Given the description of an element on the screen output the (x, y) to click on. 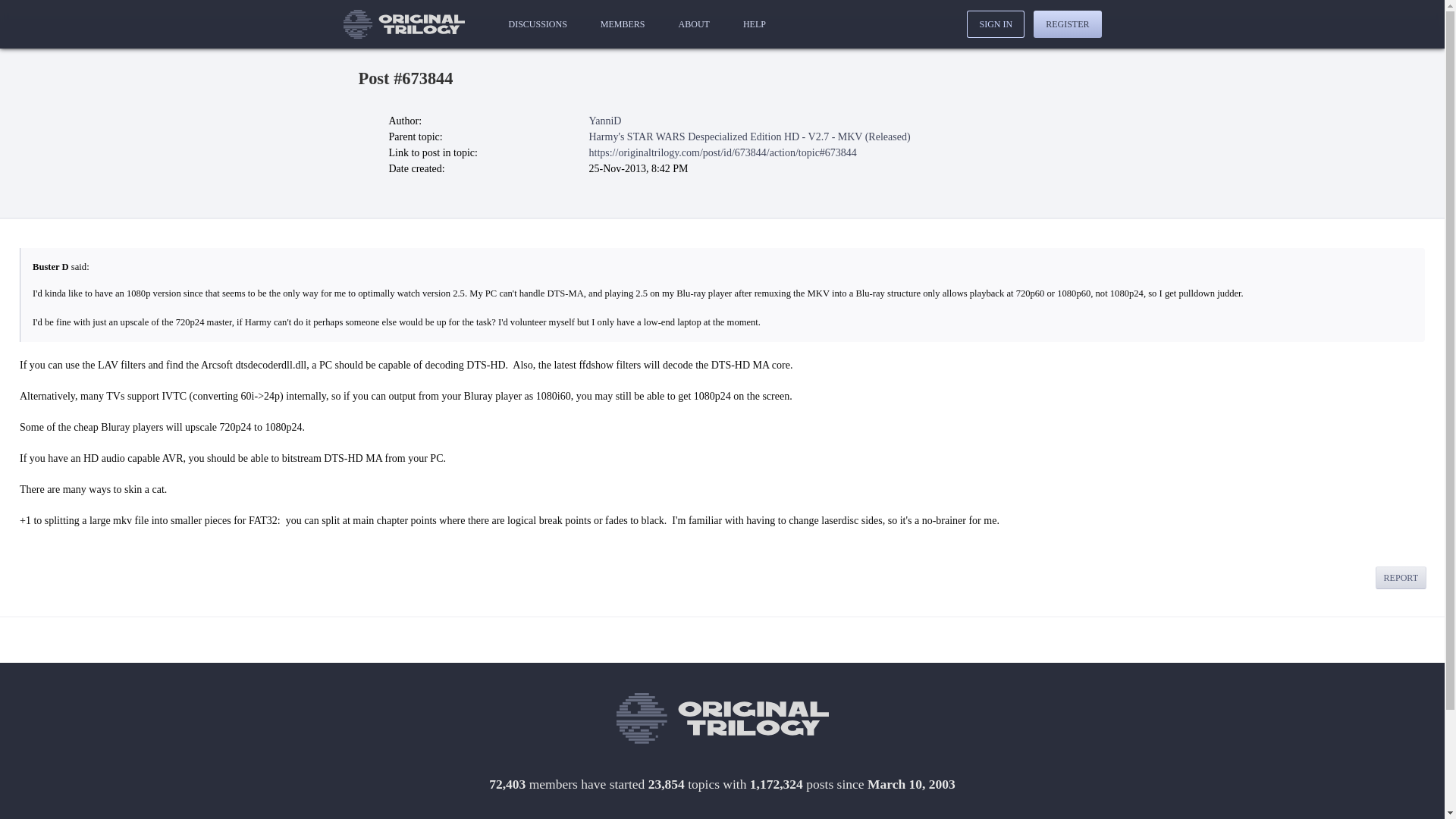
DISCUSSIONS (536, 24)
MEMBERS (622, 24)
Go to our home page. (721, 717)
Go to our home page. (403, 23)
SIGN IN (995, 23)
REPORT (1400, 577)
ABOUT (694, 24)
HELP (754, 24)
YanniD (604, 120)
REGISTER (1066, 23)
